Given the description of an element on the screen output the (x, y) to click on. 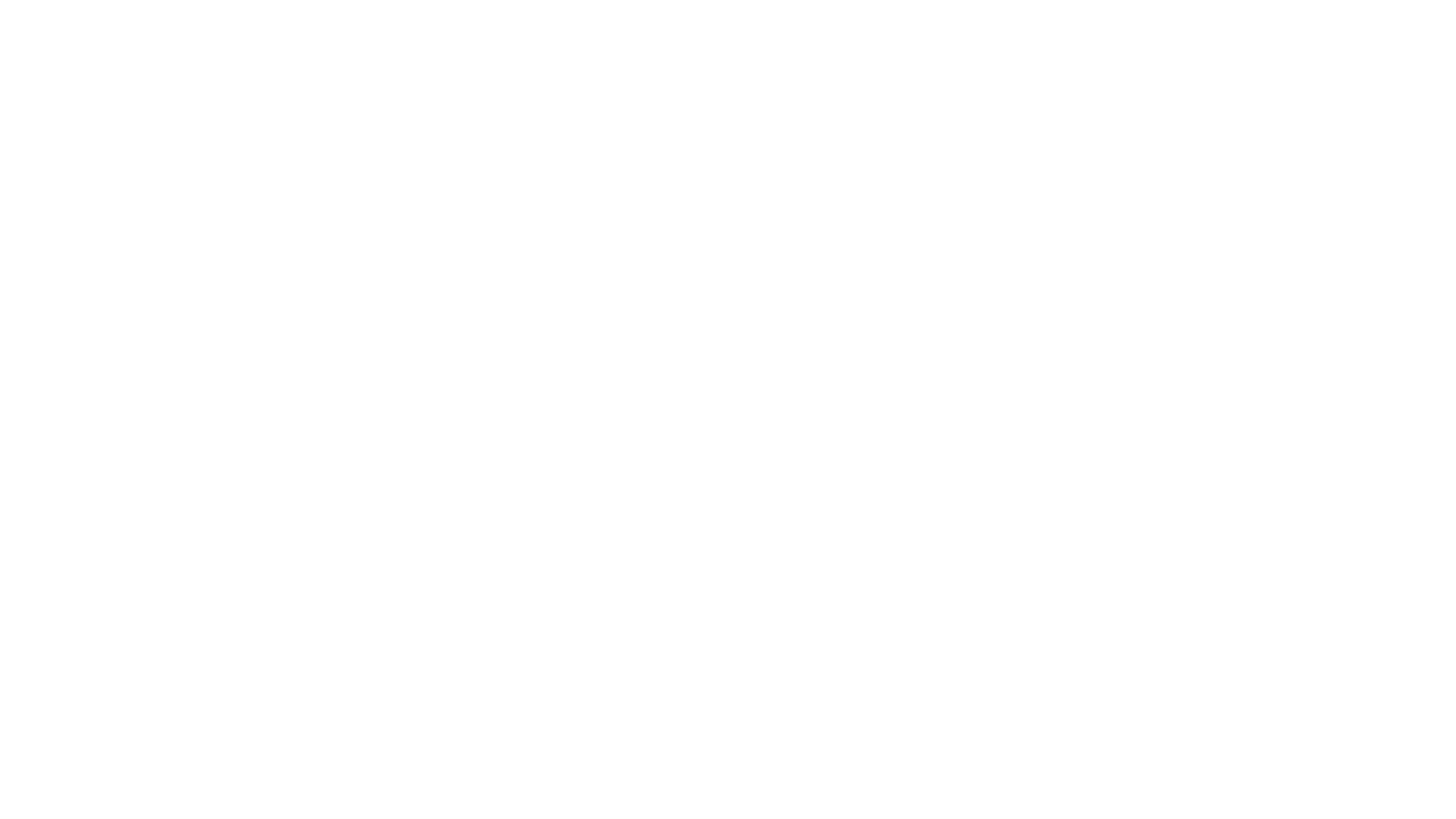
Owner Log In Element type: text (430, 799)
Prints & Gifts Element type: text (252, 799)
Share Gallery Element type: hover (1223, 520)
13 Stitches Photography.com Element type: text (109, 292)
Contact Element type: text (378, 799)
HOME Element type: text (109, 442)
Privacy Element type: text (338, 799)
Terms Element type: text (300, 799)
BUY PHOTOS Element type: text (1345, 520)
BROWSE Element type: text (108, 473)
Concerts Element type: text (303, 127)
Browse Photos Element type: text (186, 799)
Photo Sharing Element type: text (38, 799)
Slideshow Element type: hover (1260, 520)
SmugMug Element type: hover (59, 22)
Search "Dead Boys - PRB 2018" for photos Element type: hover (1380, 22)
About SmugMug Element type: text (112, 799)
